Given the description of an element on the screen output the (x, y) to click on. 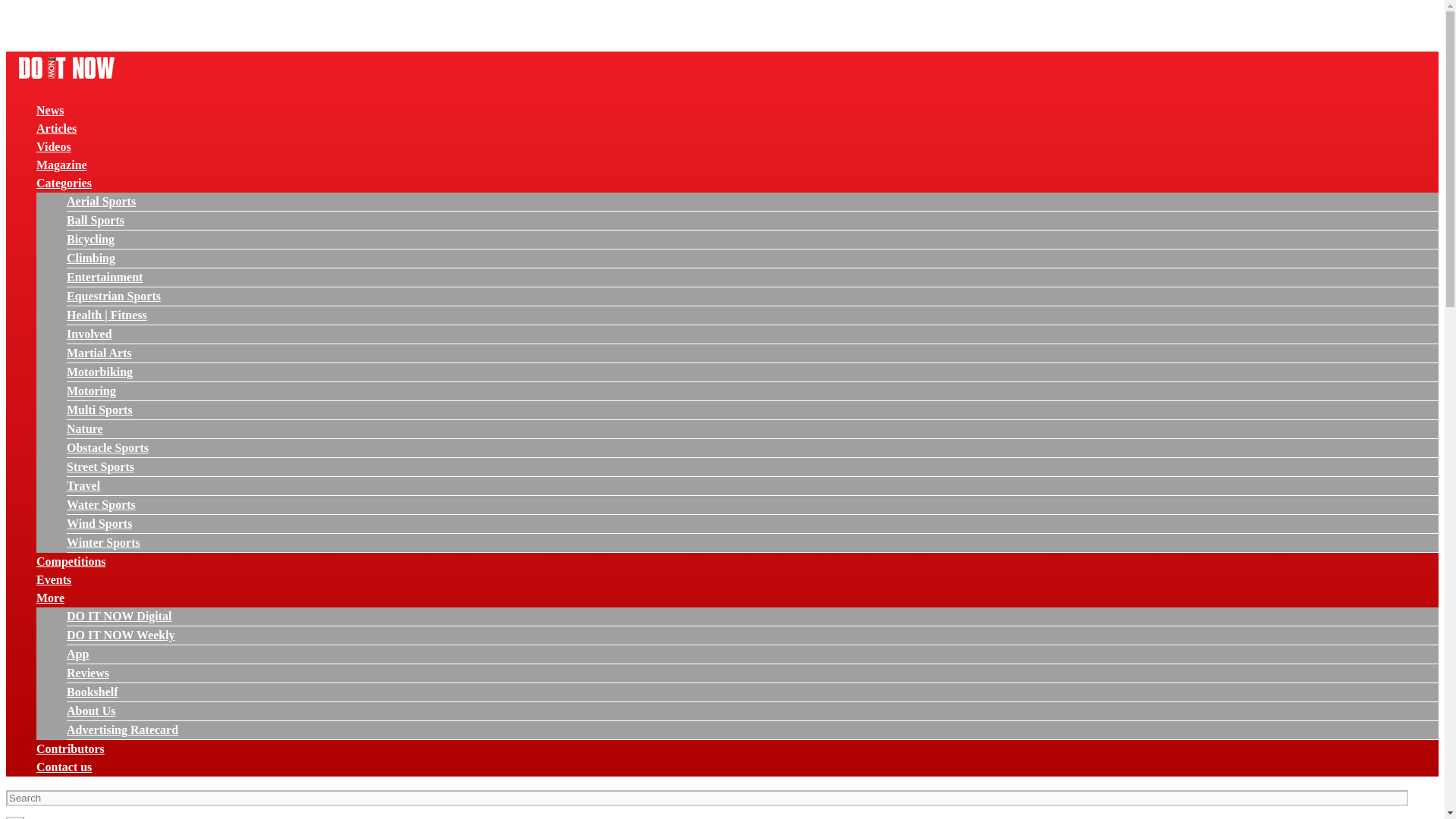
DO IT NOW Weekly (120, 634)
Competitions (71, 561)
Articles (56, 128)
Martial Arts (99, 352)
Entertainment (104, 277)
Magazine (61, 164)
Climbing (90, 257)
Travel (83, 485)
Motoring (91, 390)
Wind Sports (99, 522)
